Given the description of an element on the screen output the (x, y) to click on. 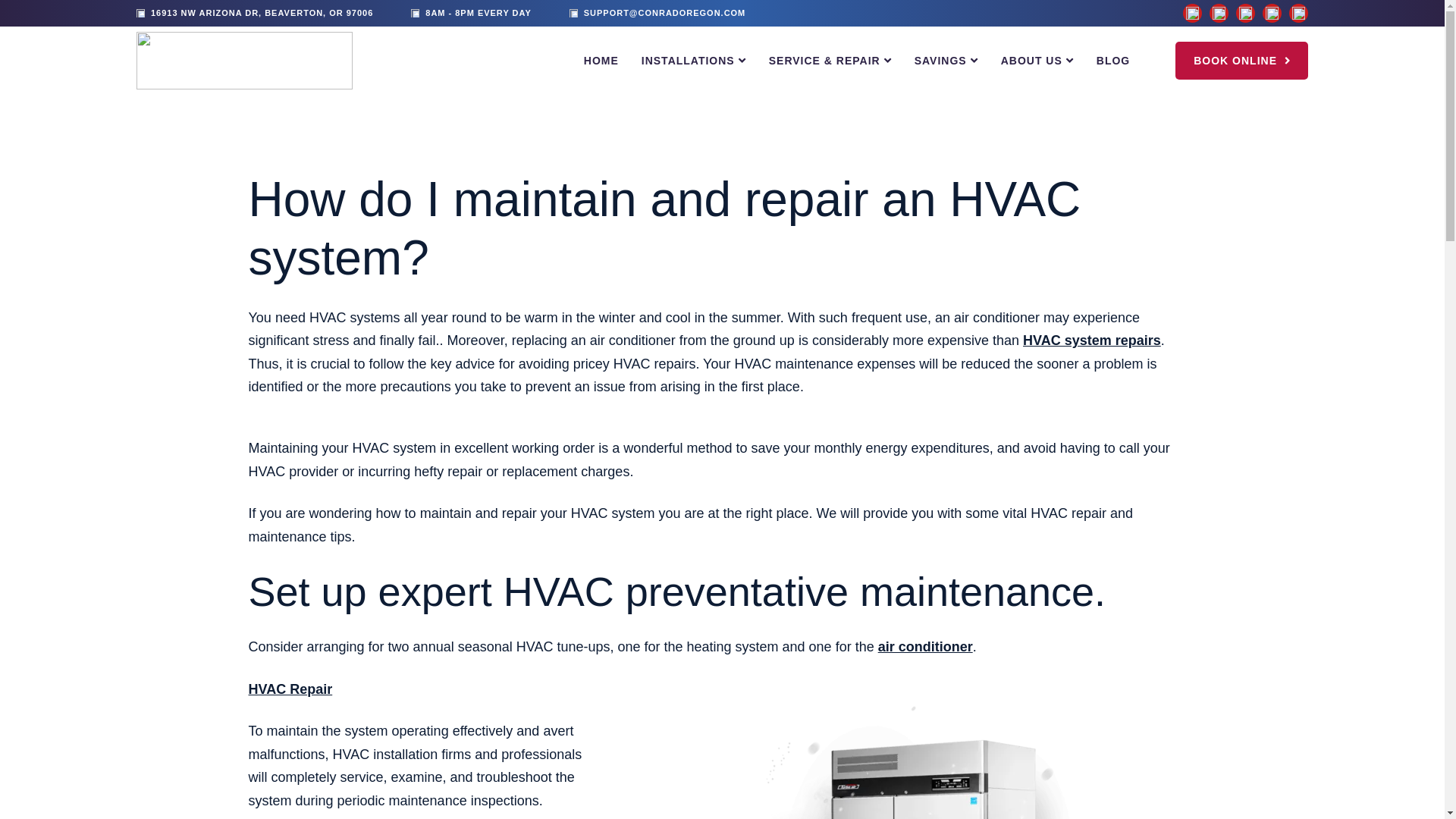
INSTALLATIONS (688, 60)
air conditioner (924, 647)
HVAC system repairs (1091, 340)
BLOG (1112, 60)
BOOK ONLINE (1240, 60)
ABOUT US (1031, 60)
HOME (600, 60)
HVAC Repair (290, 689)
SAVINGS (940, 60)
